Given the description of an element on the screen output the (x, y) to click on. 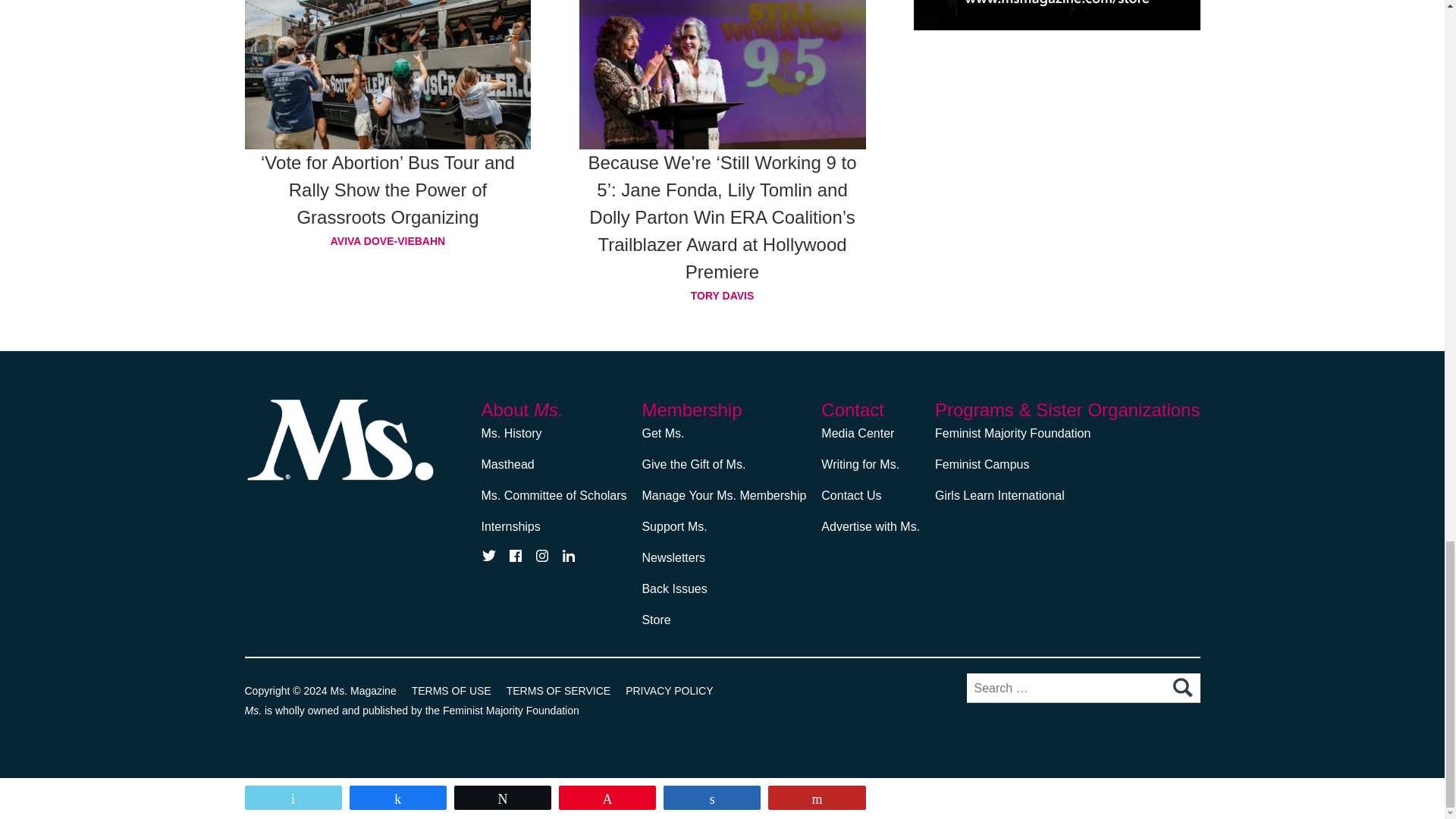
Posts by Aviva Dove-Viebahn (387, 240)
Search for: (1082, 687)
Search (1182, 687)
Search (1182, 687)
Posts by Tory Davis (722, 295)
